Given the description of an element on the screen output the (x, y) to click on. 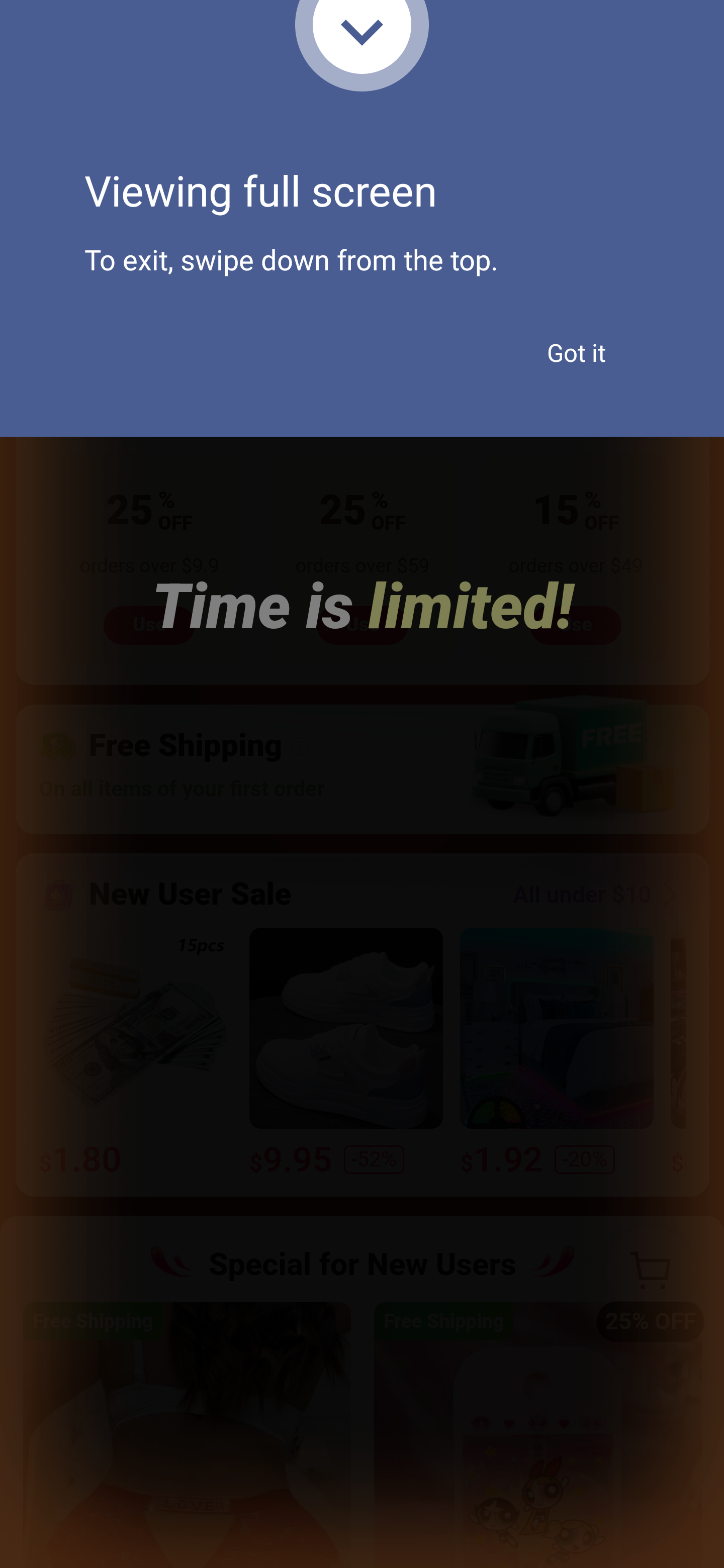
Got it (575, 352)
